Given the description of an element on the screen output the (x, y) to click on. 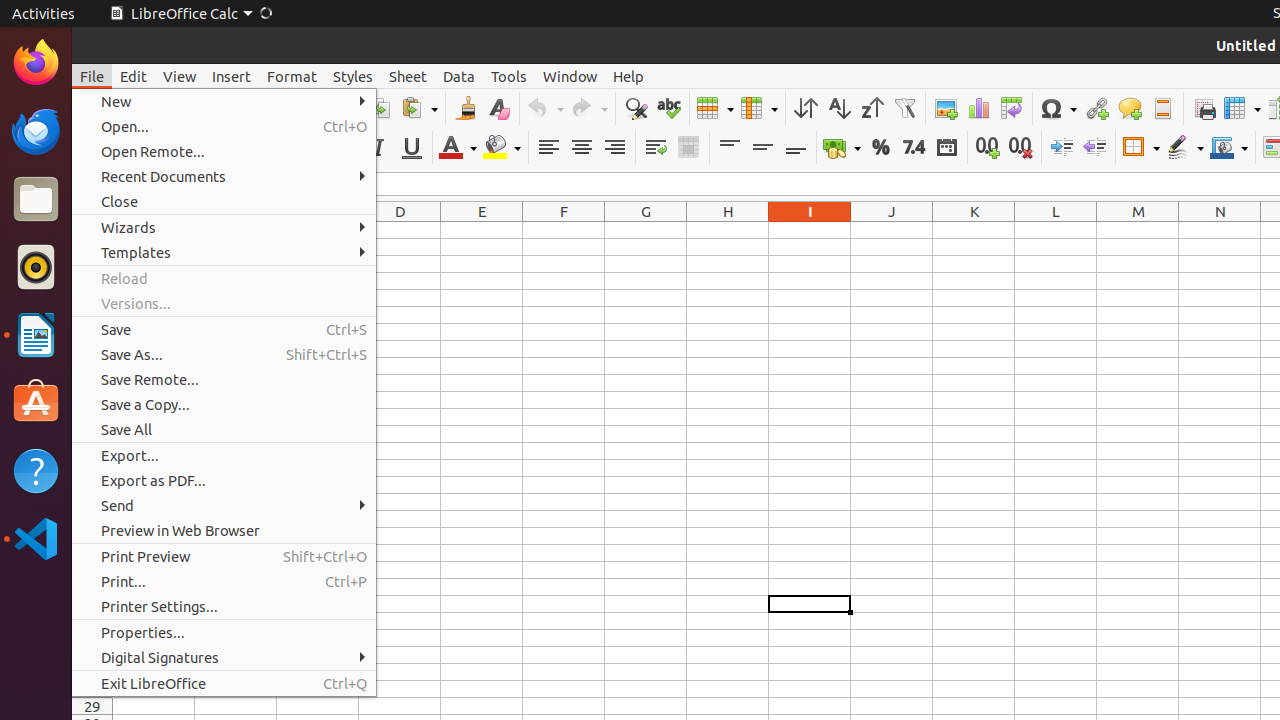
Clone Element type: push-button (465, 108)
Font Color Element type: push-button (458, 147)
Align Top Element type: push-button (729, 147)
Percent Element type: push-button (880, 147)
Activities Element type: label (43, 13)
